Given the description of an element on the screen output the (x, y) to click on. 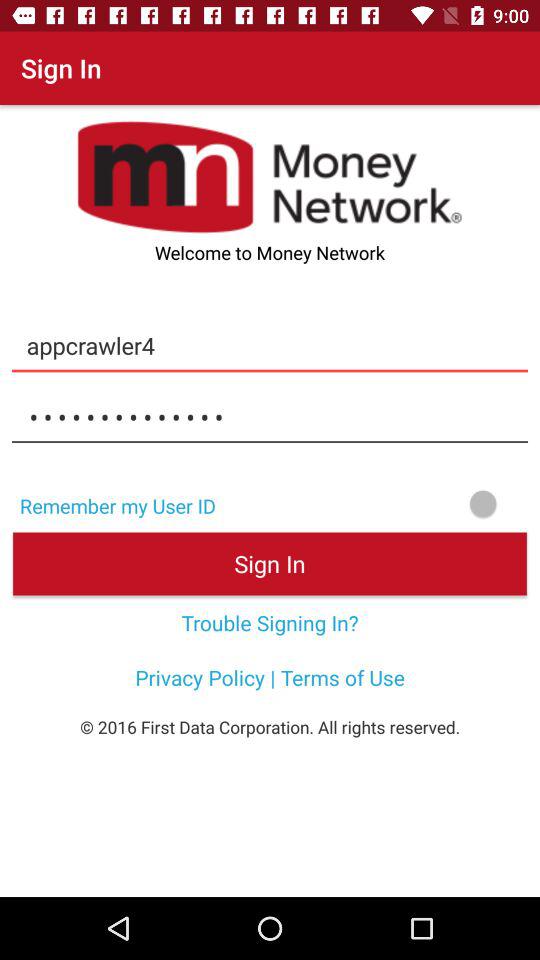
launch the privacy policy terms (270, 677)
